Given the description of an element on the screen output the (x, y) to click on. 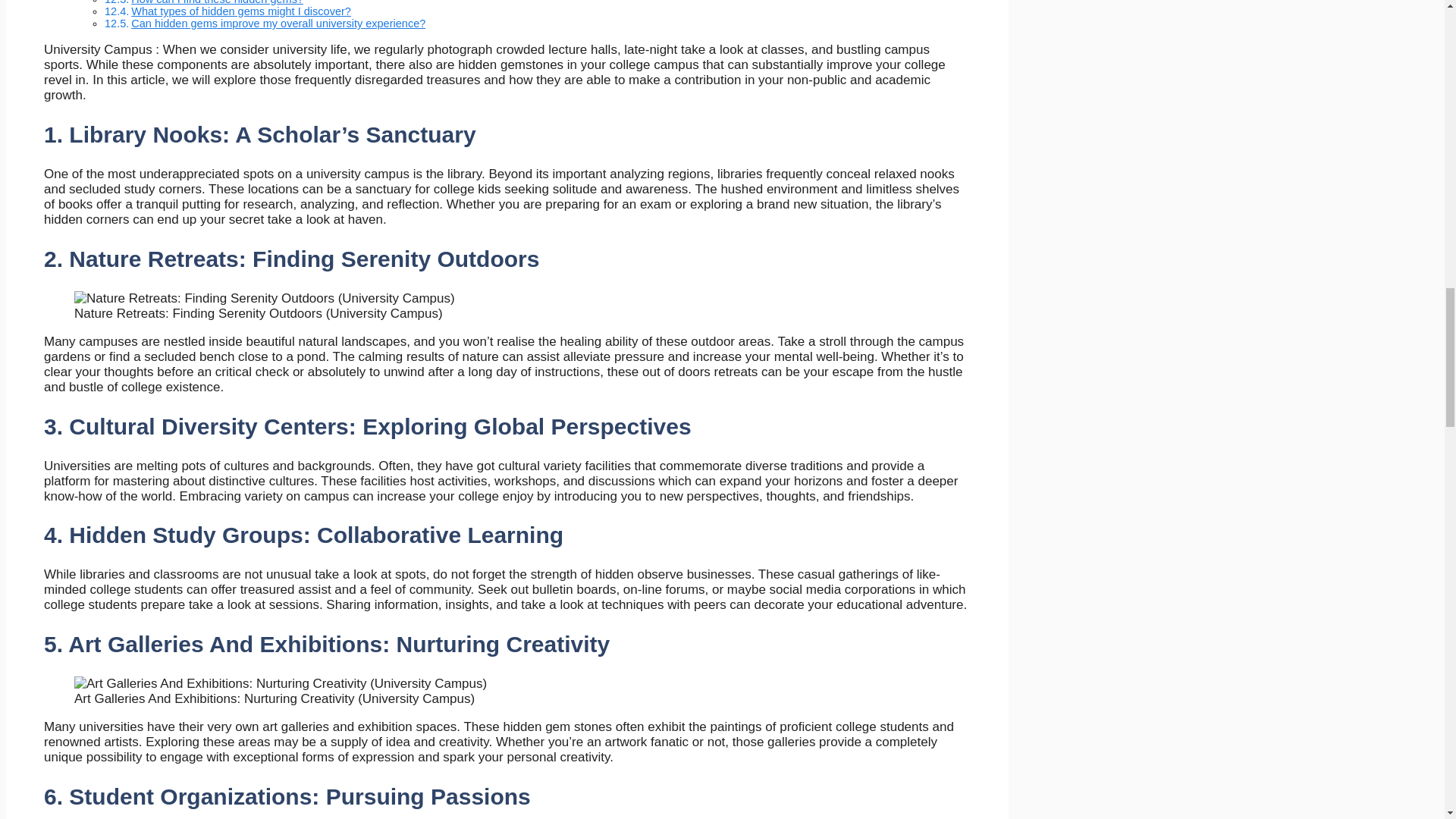
What types of hidden gems might I discover? (240, 10)
How can I find these hidden gems? (216, 2)
Can hidden gems improve my overall university experience? (278, 23)
